Given the description of an element on the screen output the (x, y) to click on. 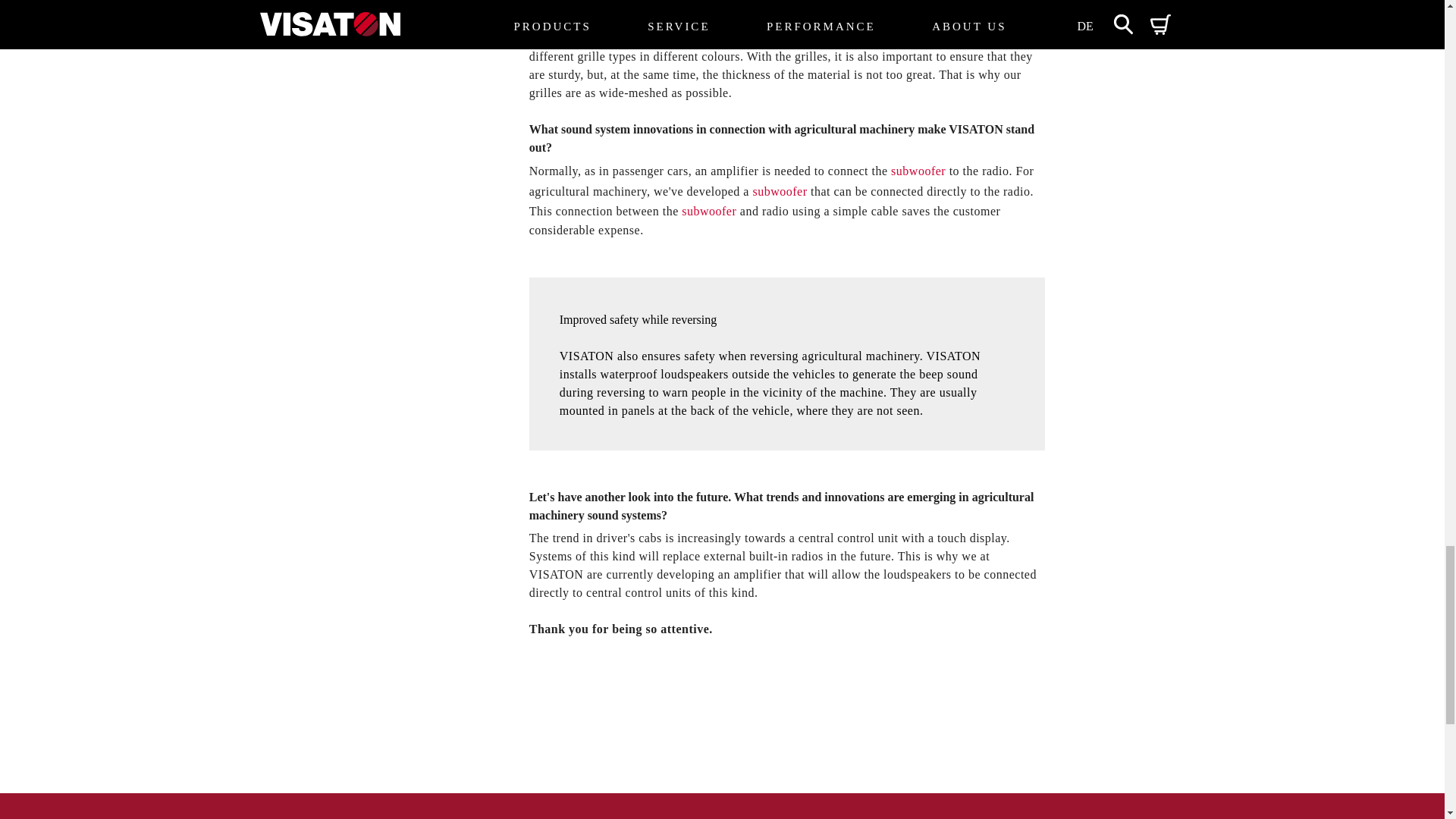
subwoofer (708, 210)
subwoofer (779, 191)
subwoofer (917, 170)
